Given the description of an element on the screen output the (x, y) to click on. 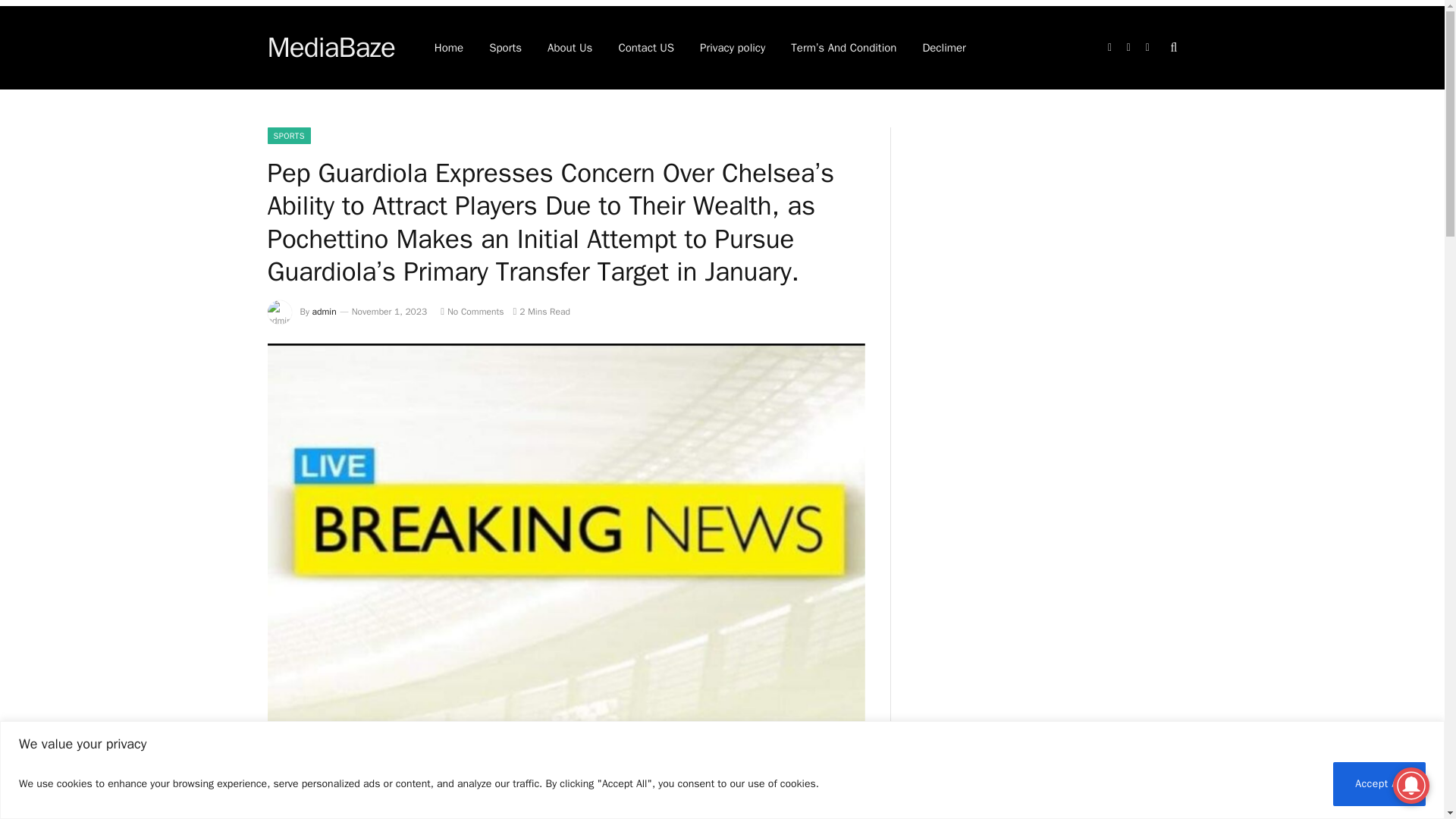
MediaBaze (330, 47)
Accept All (1379, 783)
Privacy policy (732, 47)
Contact US (646, 47)
MediaBaze (330, 47)
Posts by admin (324, 311)
admin (324, 311)
SPORTS (288, 135)
No Comments (472, 311)
